Given the description of an element on the screen output the (x, y) to click on. 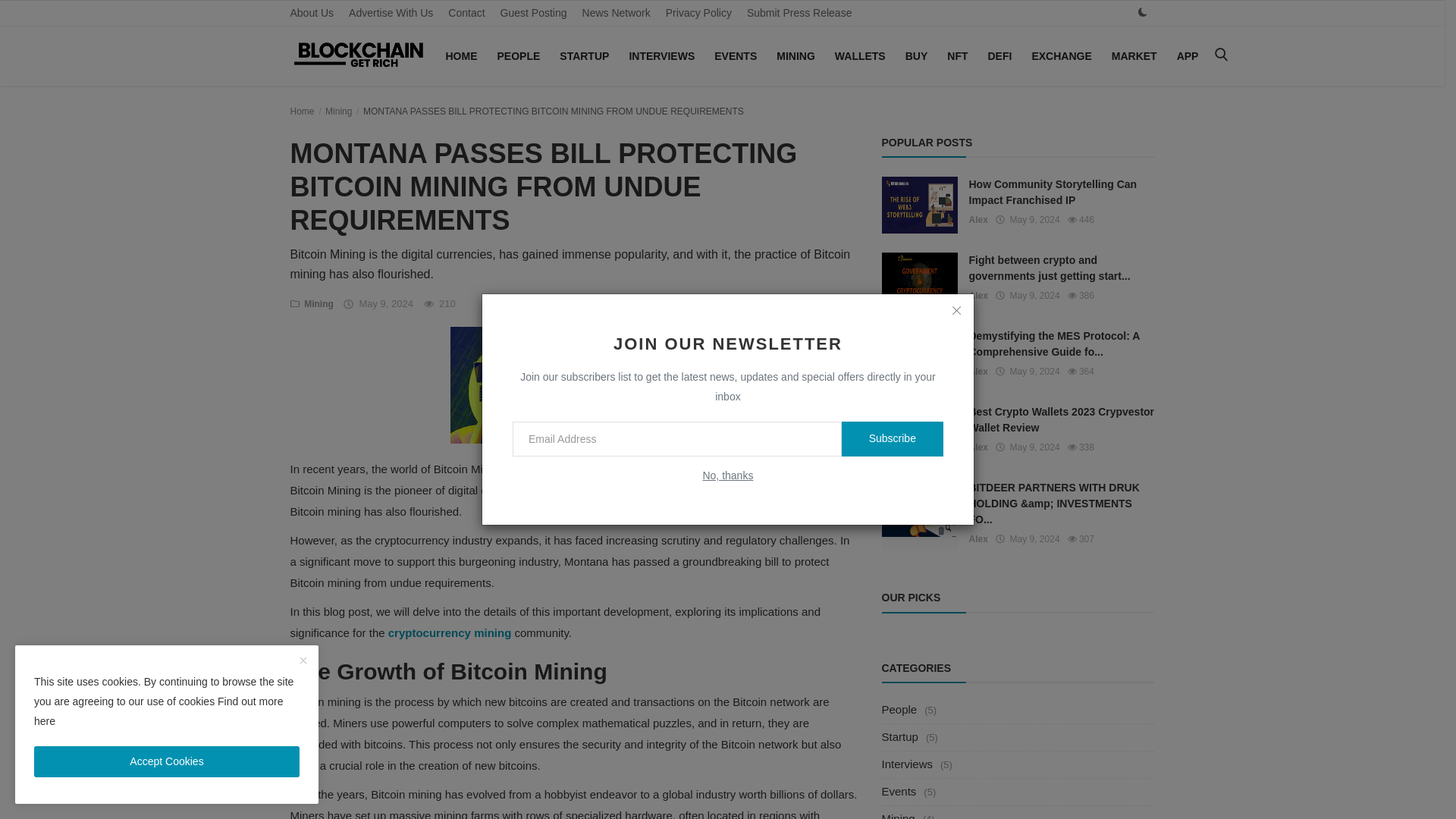
MINING (795, 55)
Privacy Policy (698, 13)
EXCHANGE (1061, 55)
WALLETS (860, 55)
Guest Posting (534, 13)
PEOPLE (518, 55)
STARTUP (583, 55)
Contact (466, 13)
INTERVIEWS (661, 55)
Submit Press Release (799, 13)
EVENTS (735, 55)
News Network (616, 13)
Advertise With Us (390, 13)
About Us (311, 13)
dark (1141, 12)
